Given the description of an element on the screen output the (x, y) to click on. 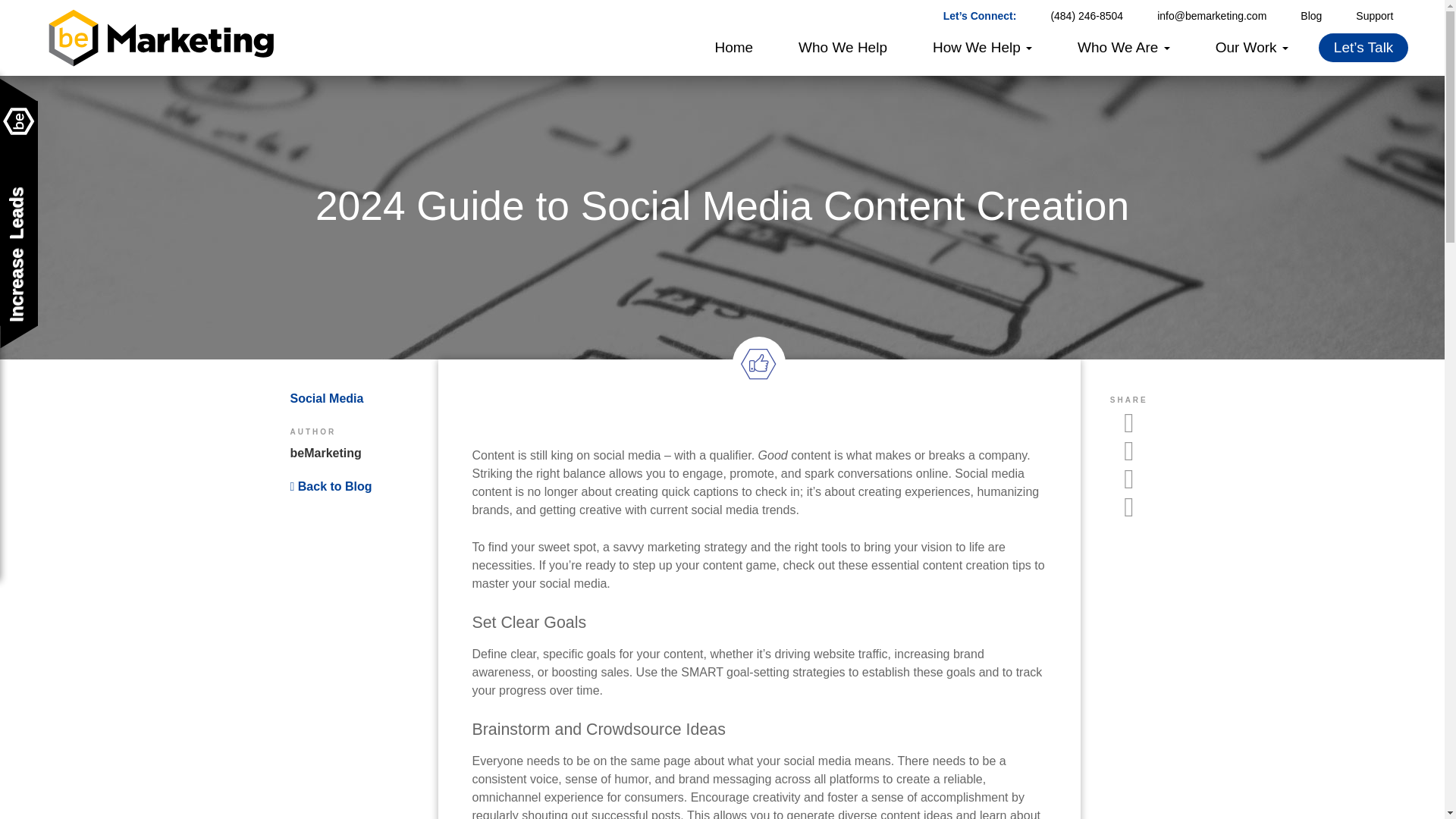
Who We Help (842, 47)
beMarketing (325, 452)
Blog (1310, 16)
Blog (1310, 16)
Who We Help (842, 47)
Who We Are (1123, 47)
Social Media (325, 398)
Support (1373, 16)
Back to Blog (330, 486)
How We Help (981, 47)
beMarketing (161, 63)
Home (733, 47)
Let's Connect: (980, 16)
Support (1373, 16)
Home (733, 47)
